Given the description of an element on the screen output the (x, y) to click on. 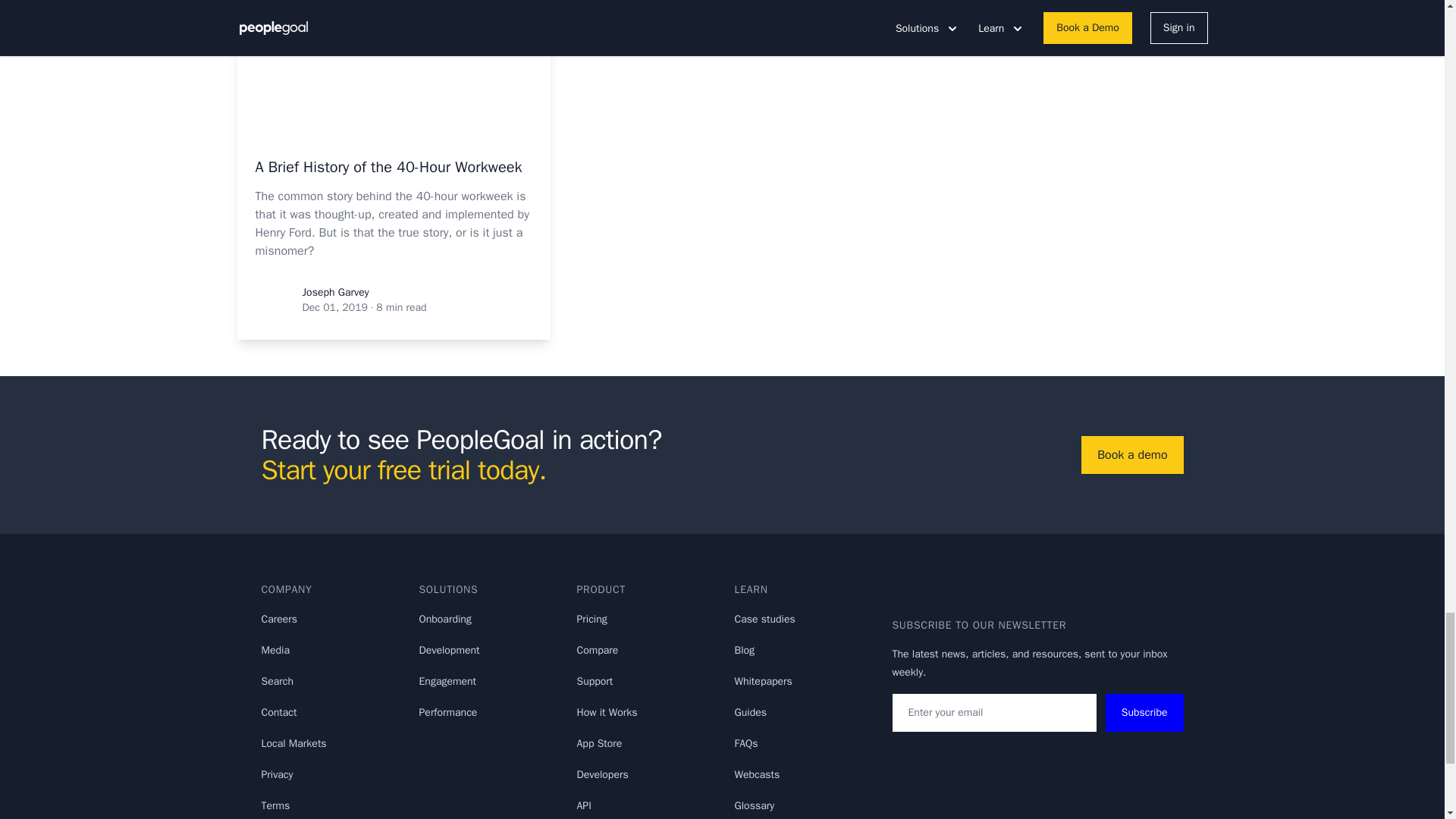
Case studies (763, 618)
Media (274, 649)
API (583, 805)
Blog (743, 649)
Pricing (591, 618)
Search (277, 680)
Engagement (447, 680)
Contact (278, 712)
Development (449, 649)
